Given the description of an element on the screen output the (x, y) to click on. 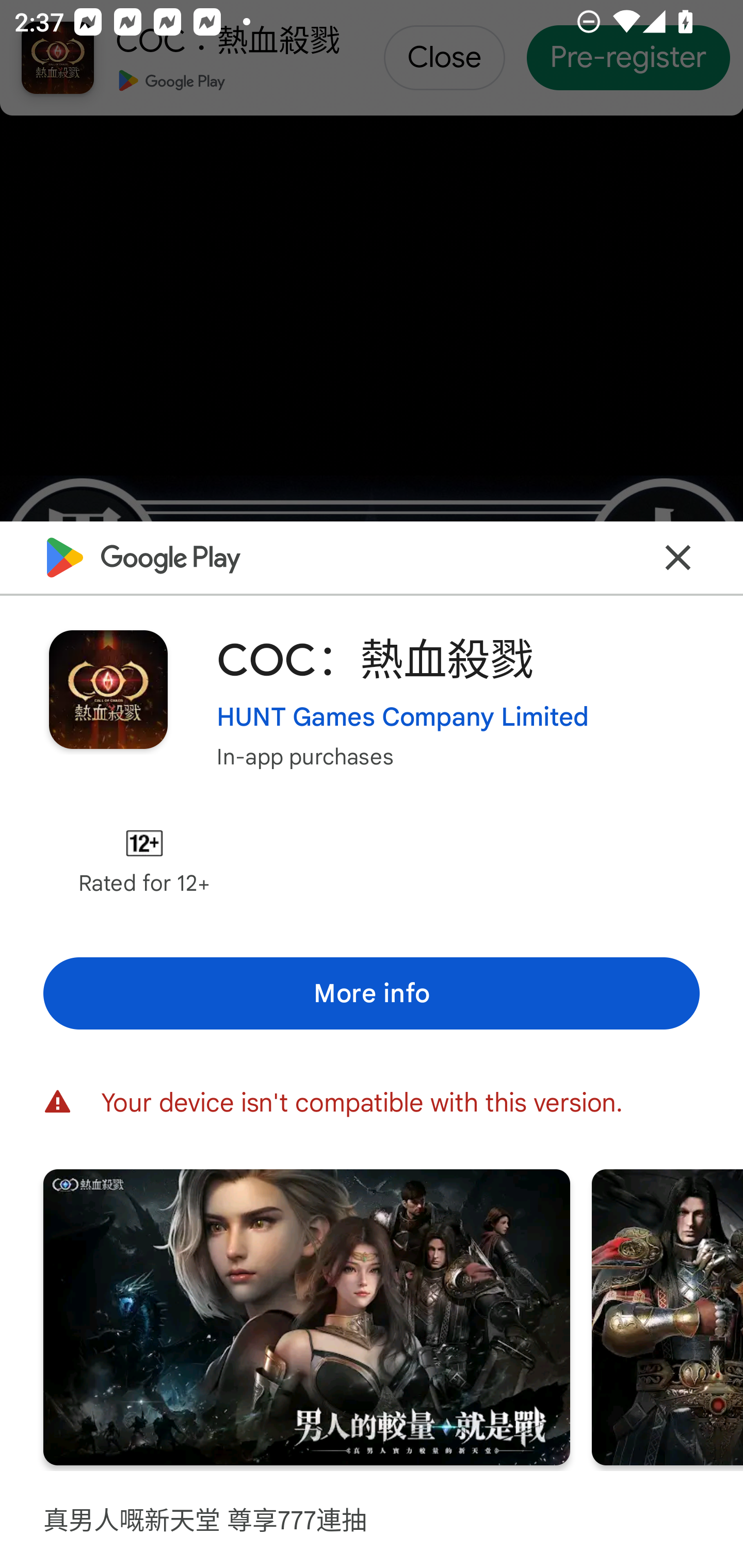
Close (677, 558)
Image of app or game icon for COC：熱血殺戮 (108, 689)
HUNT Games Company Limited (402, 716)
More info (371, 994)
Screenshot "1" of "8" (306, 1317)
